Given the description of an element on the screen output the (x, y) to click on. 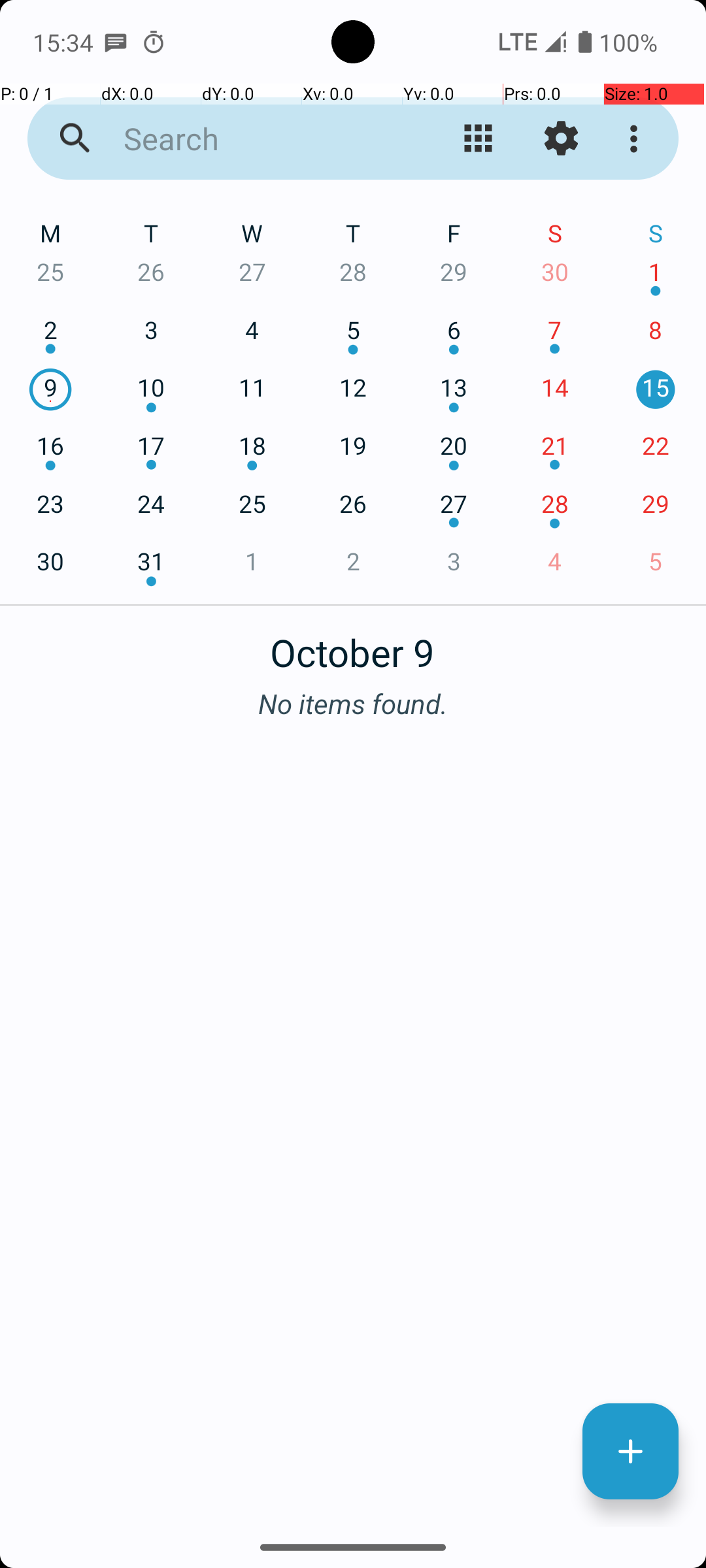
October 9 Element type: android.widget.TextView (352, 644)
SMS Messenger notification: +15785288010 Element type: android.widget.ImageView (115, 41)
